Given the description of an element on the screen output the (x, y) to click on. 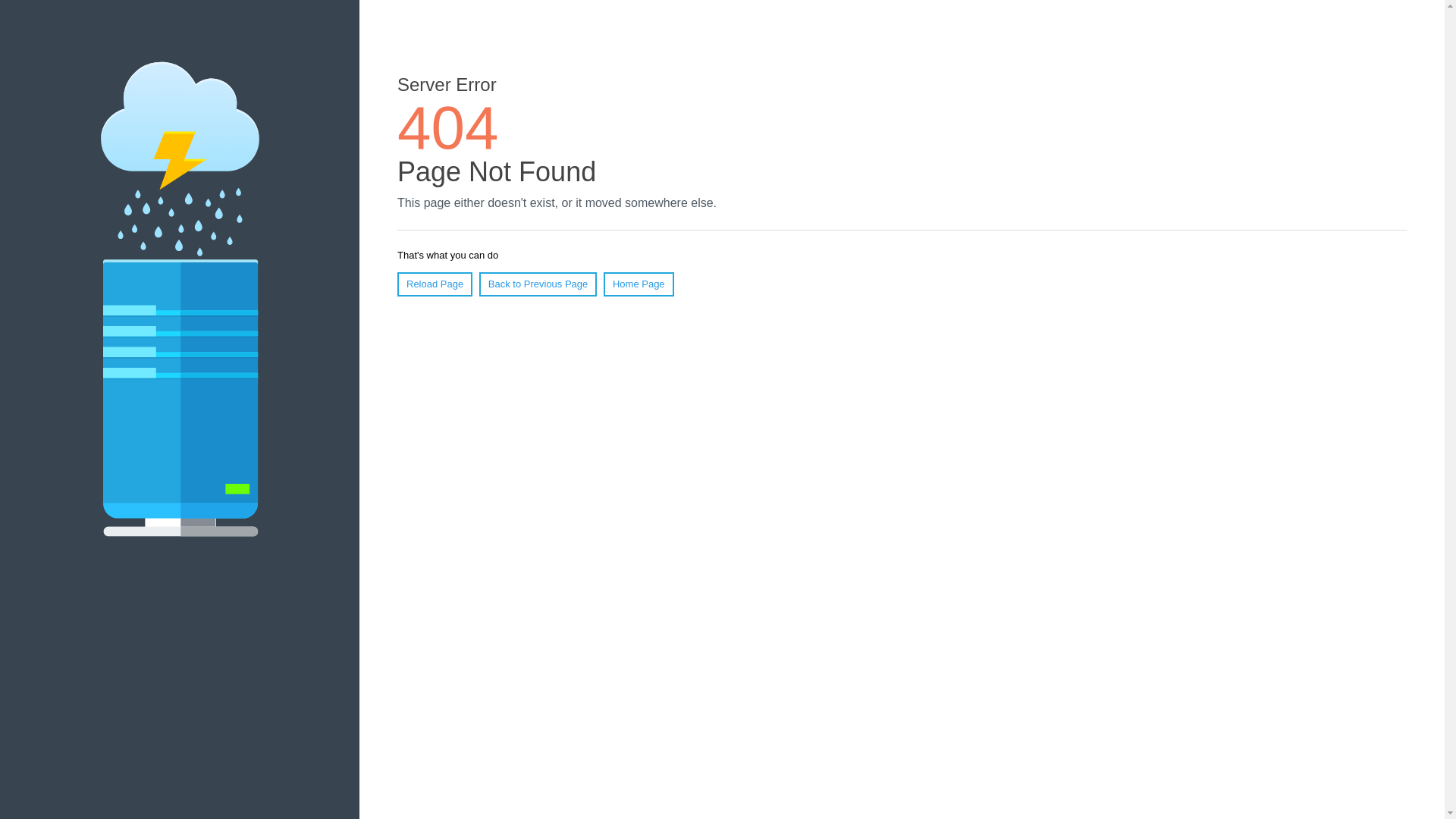
Home Page Element type: text (638, 284)
Back to Previous Page Element type: text (538, 284)
Reload Page Element type: text (434, 284)
